Given the description of an element on the screen output the (x, y) to click on. 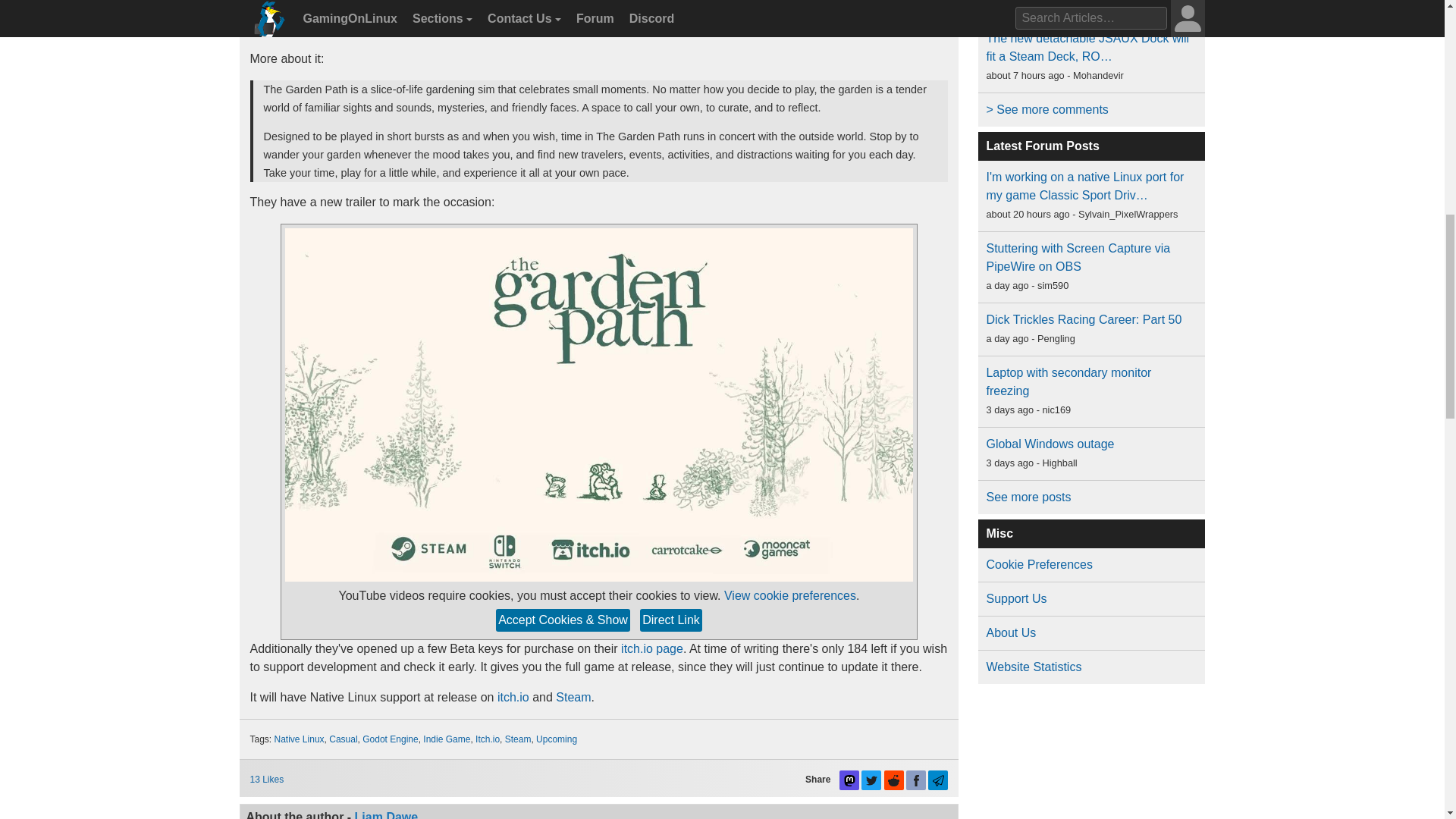
Share to Mastodon (849, 780)
